Given the description of an element on the screen output the (x, y) to click on. 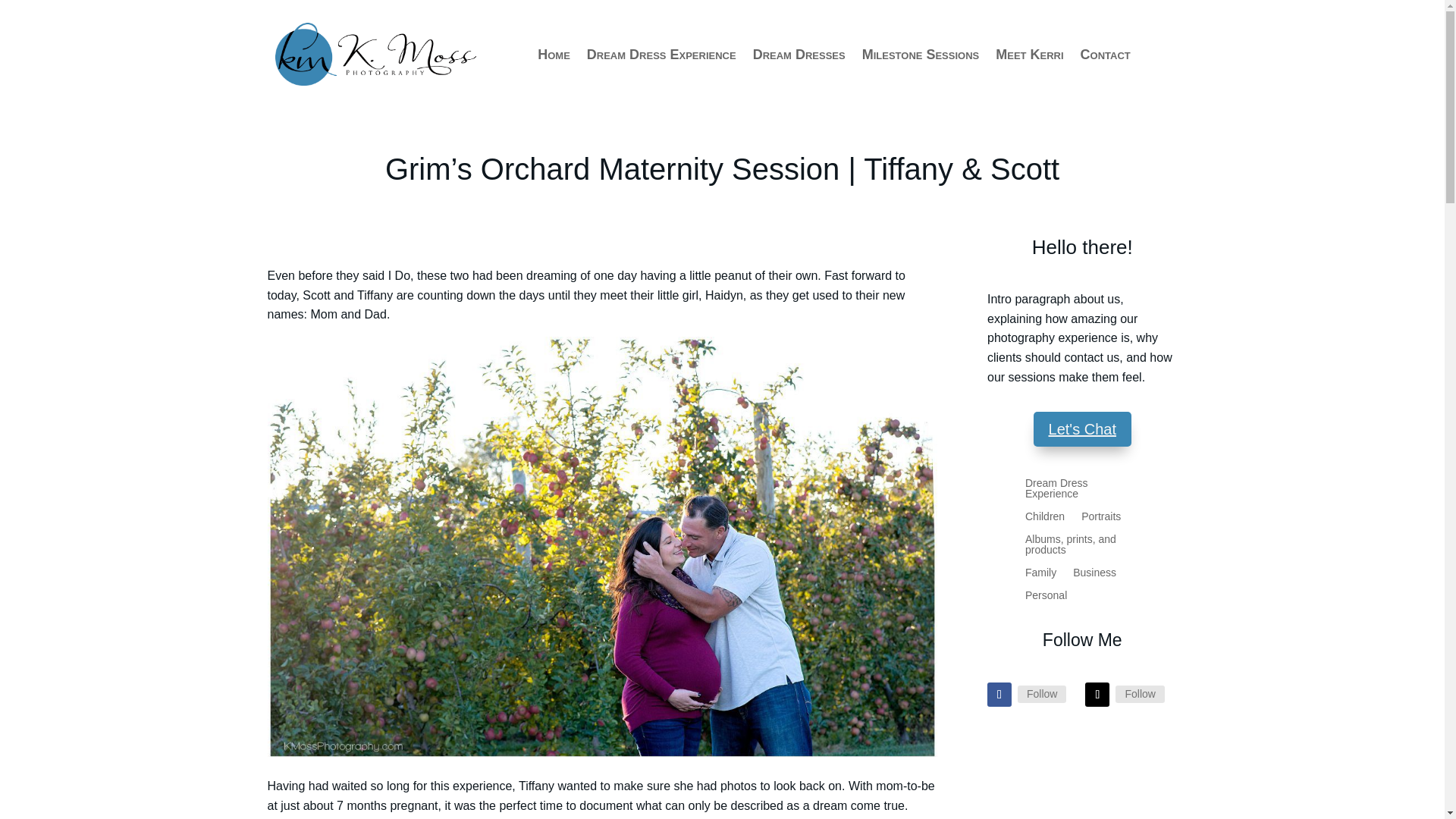
Dream Dress Experience (1082, 491)
Let's Chat (1082, 428)
Meet Kerri (1028, 53)
Personal (1046, 597)
Business (1094, 575)
Dream Dresses (798, 53)
X (1139, 693)
Dream Dress Experience (661, 53)
Follow on X (1096, 694)
Follow (1041, 693)
Children (1044, 519)
Follow on Facebook (999, 694)
Milestone Sessions (920, 53)
Follow (1139, 693)
Albums, prints, and products (1082, 547)
